Given the description of an element on the screen output the (x, y) to click on. 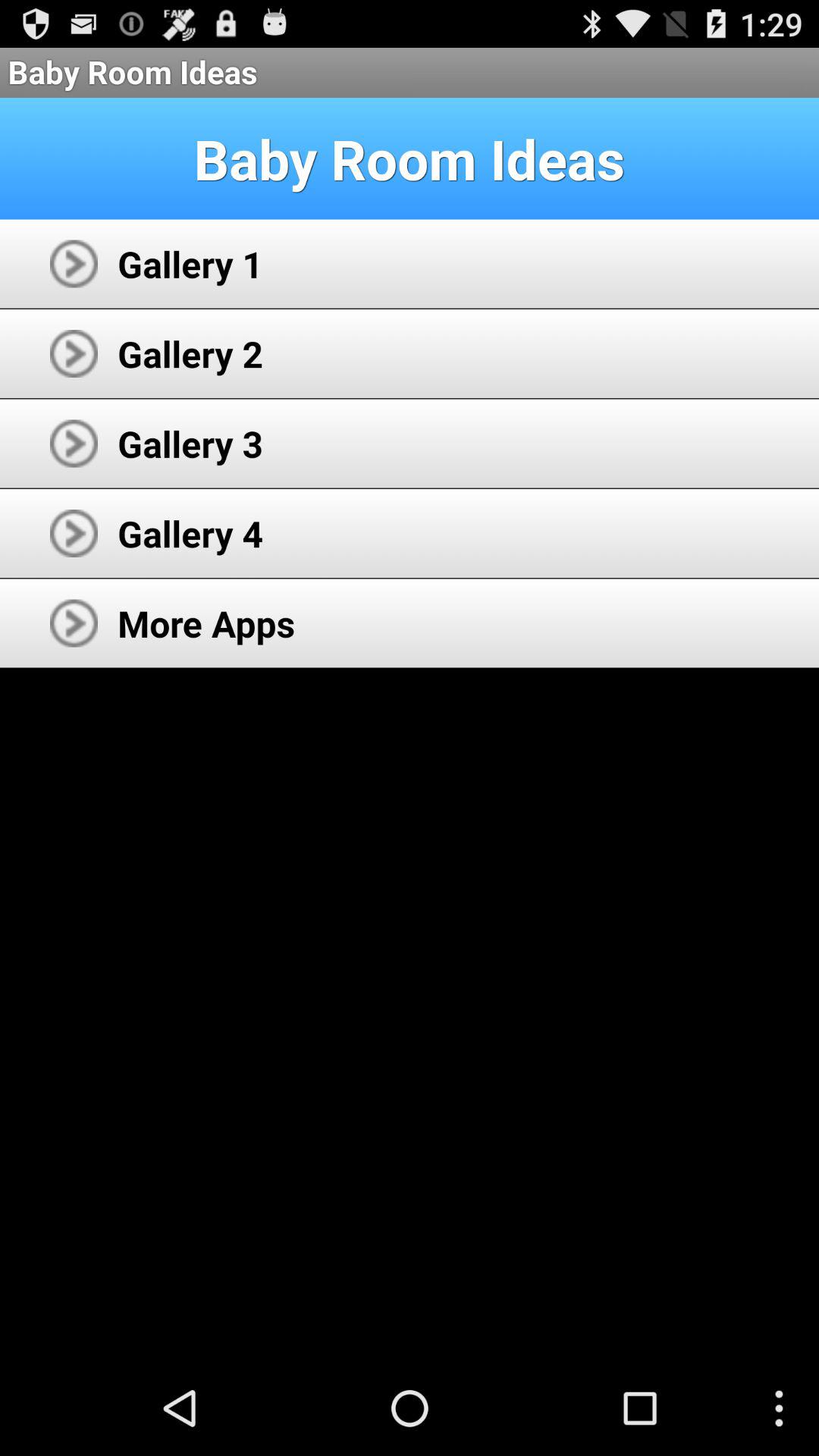
choose icon below baby room ideas (190, 263)
